Given the description of an element on the screen output the (x, y) to click on. 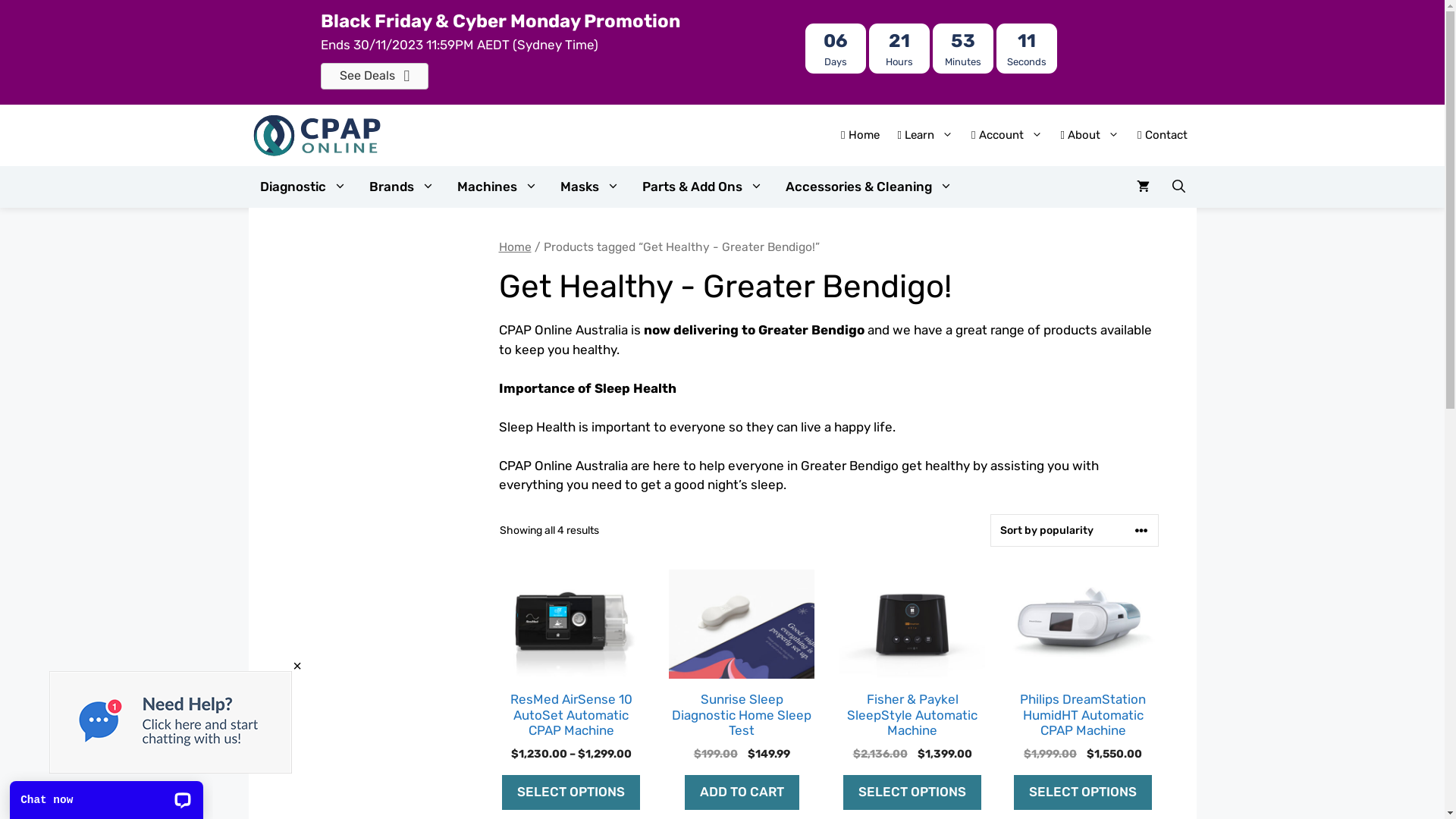
See Deals Element type: text (374, 75)
View your shopping cart Element type: hover (1143, 186)
Learn Element type: text (925, 134)
SELECT OPTIONS Element type: text (912, 792)
Home Element type: text (859, 134)
Accessories & Cleaning Element type: text (868, 186)
SELECT OPTIONS Element type: text (571, 792)
SELECT OPTIONS Element type: text (1082, 792)
Contact Element type: text (1161, 134)
Machines Element type: text (497, 186)
Sunrise Sleep Diagnostic Home Sleep Test
$199.00 $149.99 Element type: text (741, 665)
Masks Element type: text (589, 186)
Brands Element type: text (401, 186)
Account Element type: text (1006, 134)
Parts & Add Ons Element type: text (702, 186)
ADD TO CART Element type: text (741, 792)
Home Element type: text (514, 246)
Diagnostic Element type: text (302, 186)
About Element type: text (1089, 134)
